Given the description of an element on the screen output the (x, y) to click on. 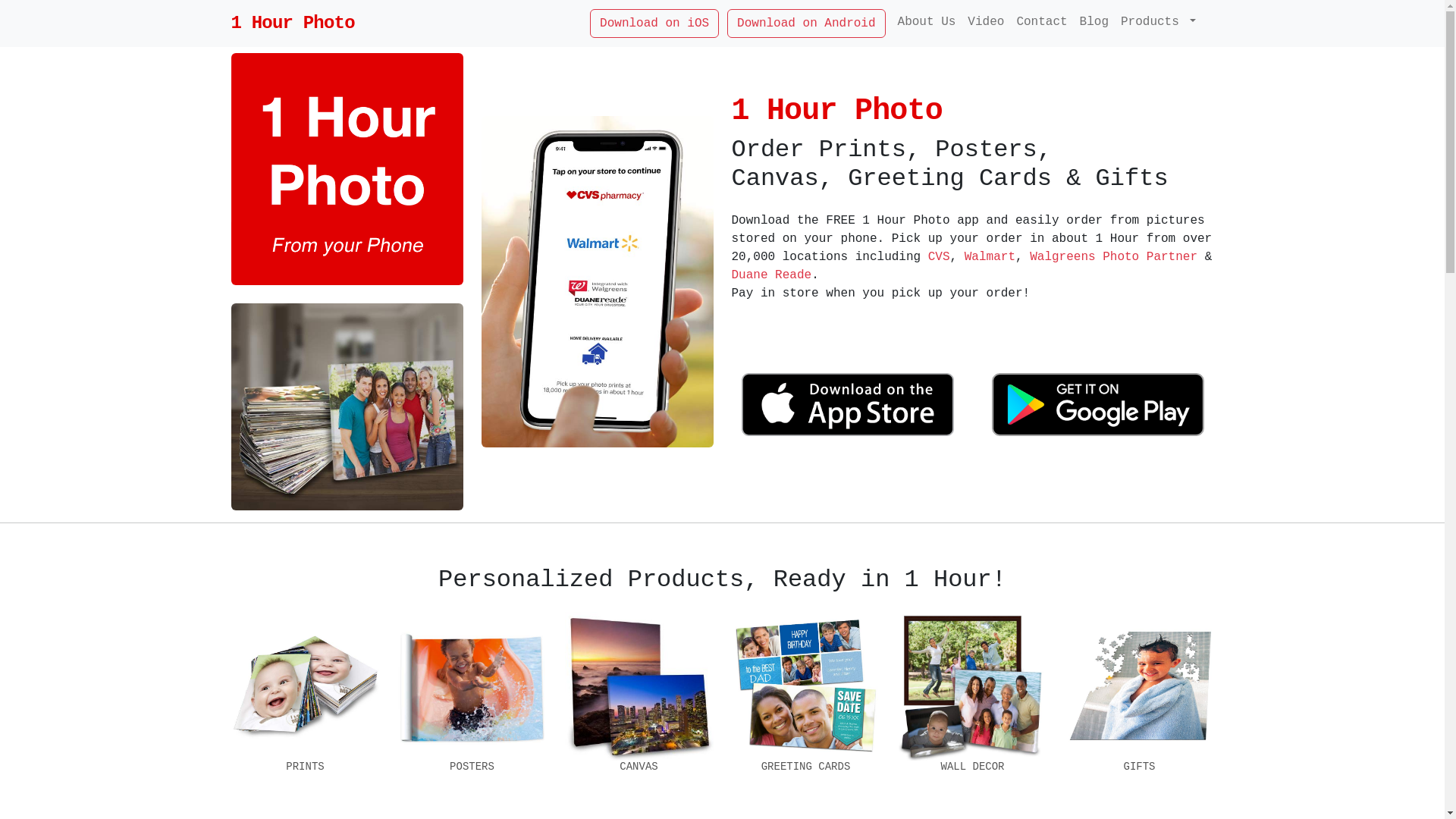
POSTERS Element type: text (471, 726)
GREETING CARDS Element type: text (805, 726)
Blog Element type: text (1093, 21)
CANVAS Element type: text (638, 726)
PRINTS Element type: text (304, 726)
Contact Element type: text (1041, 21)
GIFTS Element type: text (1138, 726)
CVS Element type: text (939, 256)
WALL DECOR Element type: text (971, 726)
About Us Element type: text (926, 21)
Video Element type: text (985, 21)
Products Element type: text (1157, 21)
1 Hour Photo Element type: text (292, 23)
Download on iOS Element type: text (653, 23)
Duane Reade Element type: text (771, 275)
Walgreens Photo Partner Element type: text (1113, 256)
Download on Android Element type: text (805, 23)
Walmart Element type: text (989, 256)
